Given the description of an element on the screen output the (x, y) to click on. 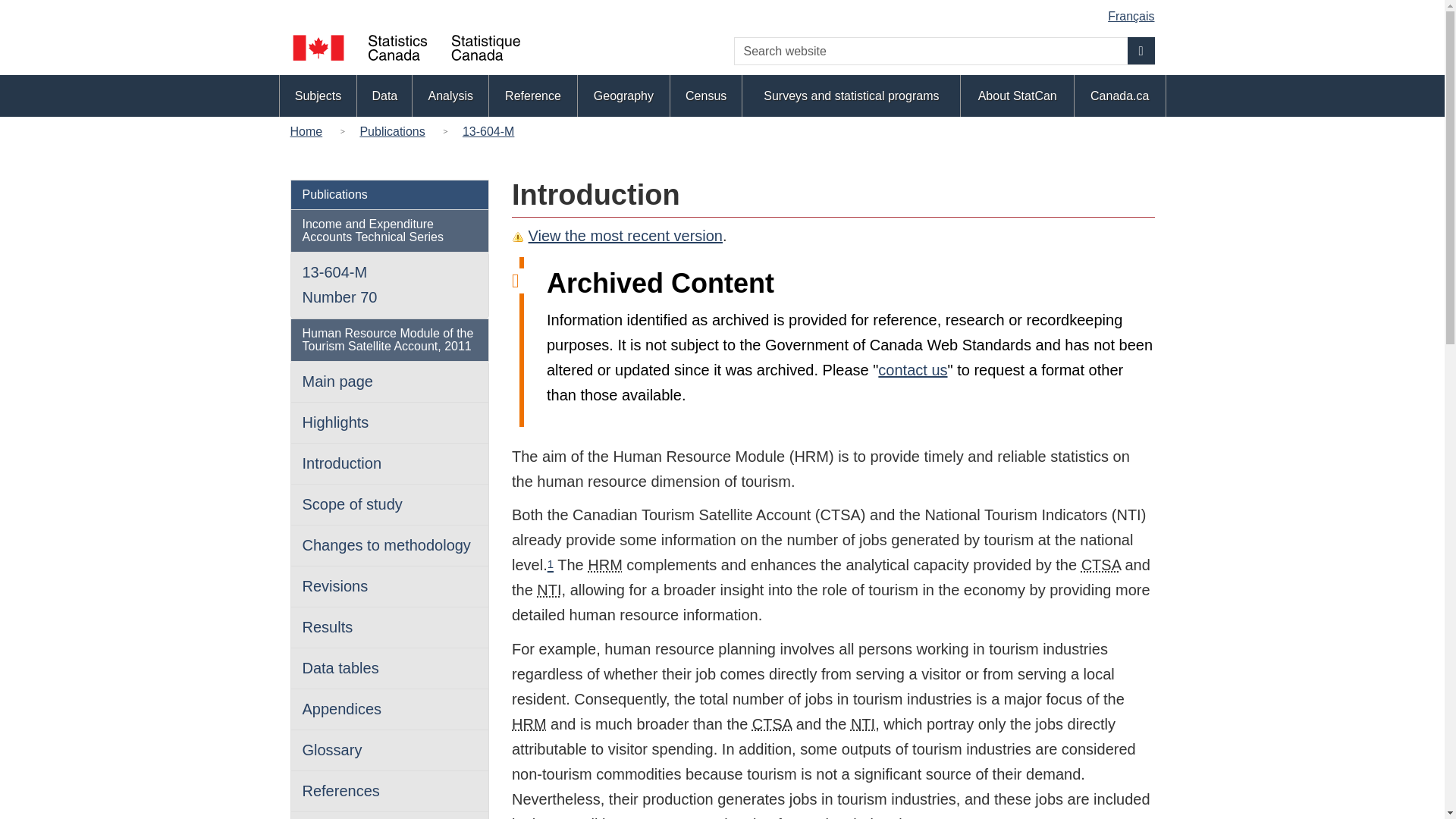
Results (326, 627)
First page of the Publications module (333, 194)
Main page (336, 381)
References (339, 790)
Data tables (339, 668)
Human Resource Module (605, 564)
13-604-M (487, 131)
View the most recent version (625, 235)
Reference (532, 96)
Glossary (331, 750)
Subjects (317, 96)
Scope of study (351, 504)
contact us (912, 369)
First page of the publications module (392, 131)
Home (309, 131)
